Given the description of an element on the screen output the (x, y) to click on. 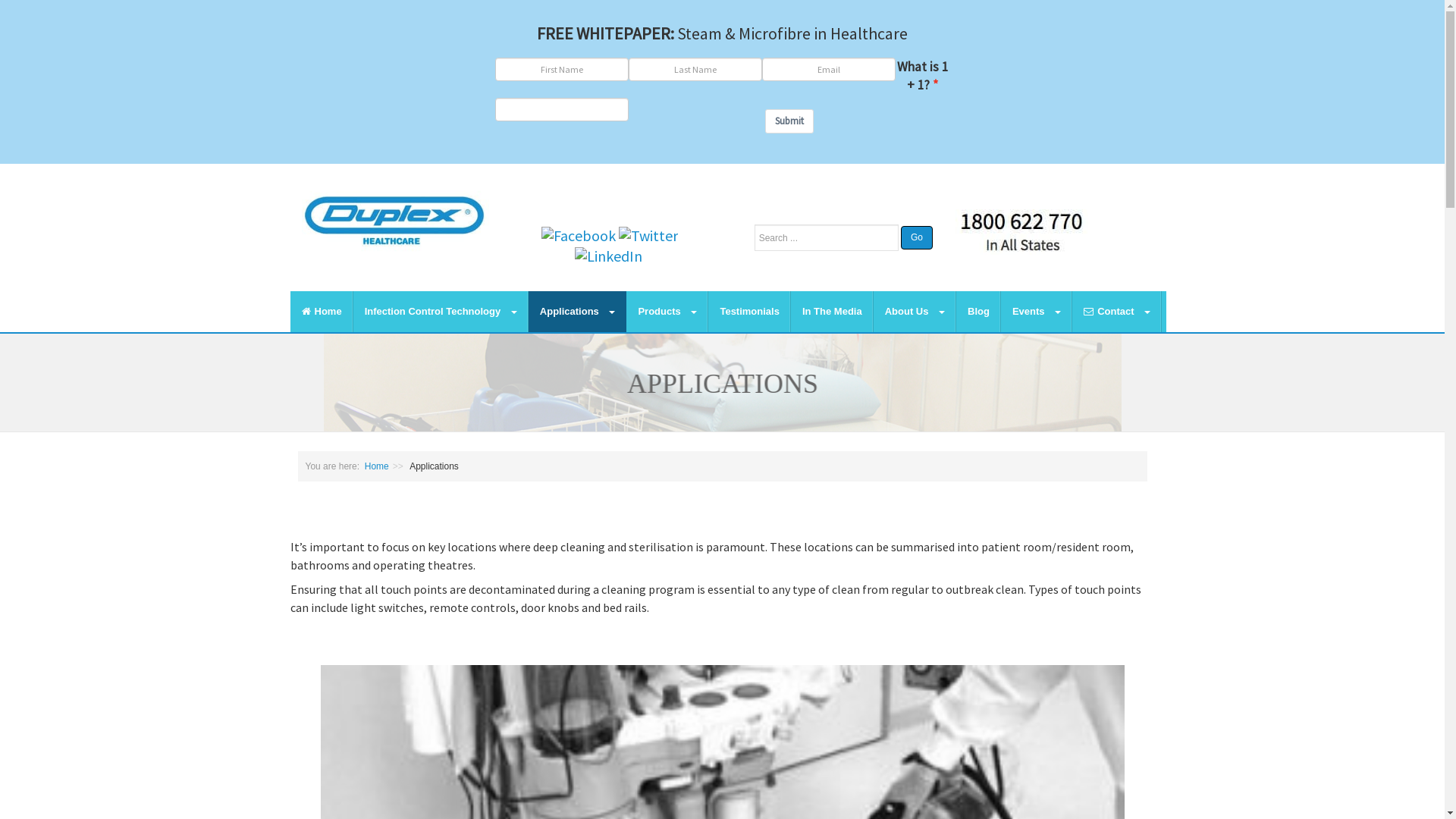
Home Element type: text (376, 466)
Linked In icon Element type: hover (608, 256)
Tap to call us now Element type: hover (1021, 230)
Submit Element type: text (788, 121)
Infection Control Technology Element type: text (440, 311)
Contact Element type: text (1116, 311)
Duplex Healthcare Twitter Element type: hover (647, 235)
Linked In Profile for Duplex Cleaning Machines Element type: hover (608, 253)
Duplex Healthcare Facebook Element type: hover (578, 233)
Events Element type: text (1036, 311)
Products Element type: text (667, 311)
About Us Element type: text (914, 311)
Duplex Healthcare Twitter Element type: hover (647, 233)
Testimonials Element type: text (749, 311)
Applications Element type: text (577, 311)
Blog Element type: text (978, 311)
Home Element type: text (320, 311)
Tap to call us now Element type: hover (1021, 231)
Go Element type: text (916, 237)
In The Media Element type: text (831, 311)
